Given the description of an element on the screen output the (x, y) to click on. 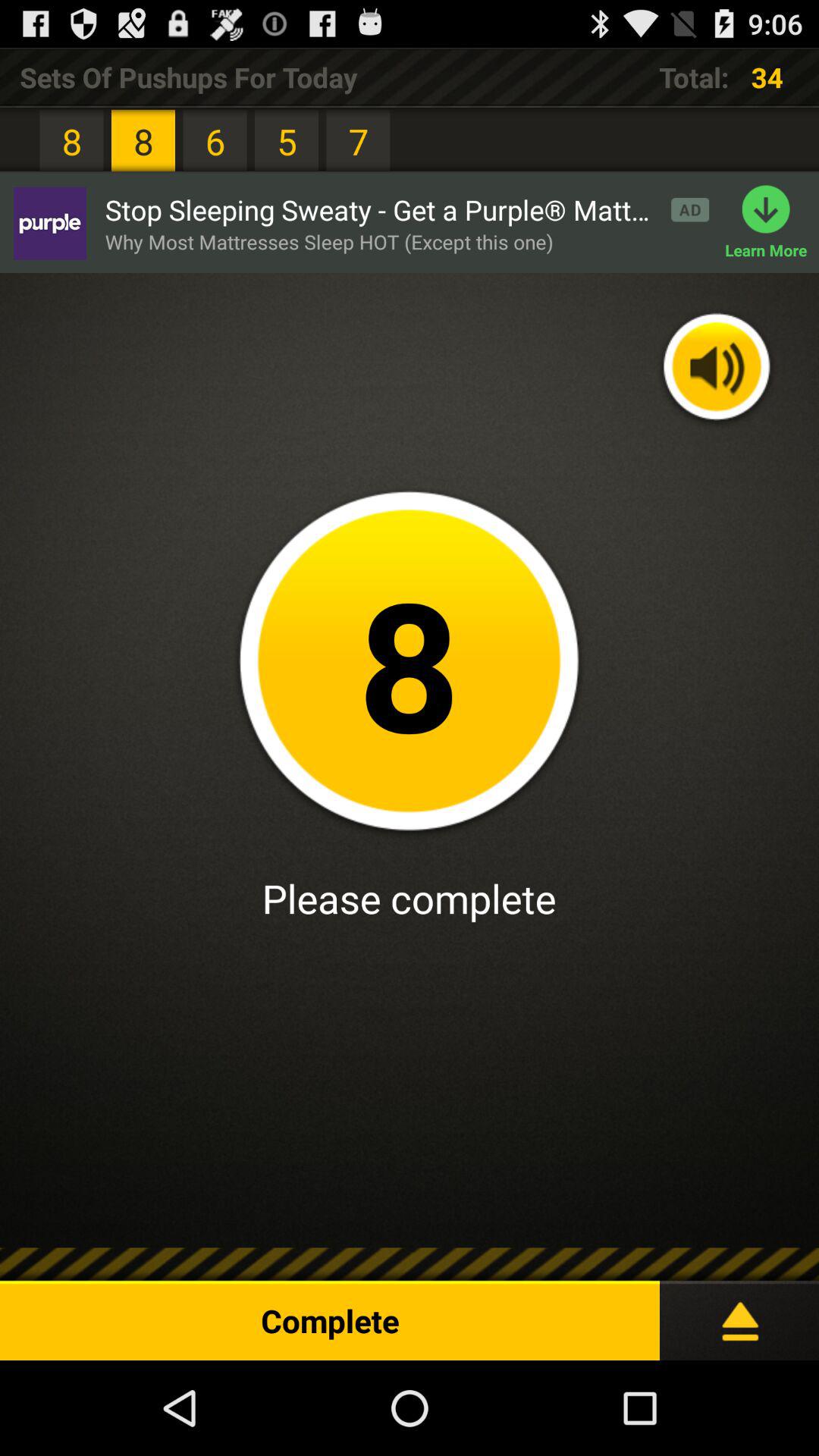
complete settings (739, 1314)
